Given the description of an element on the screen output the (x, y) to click on. 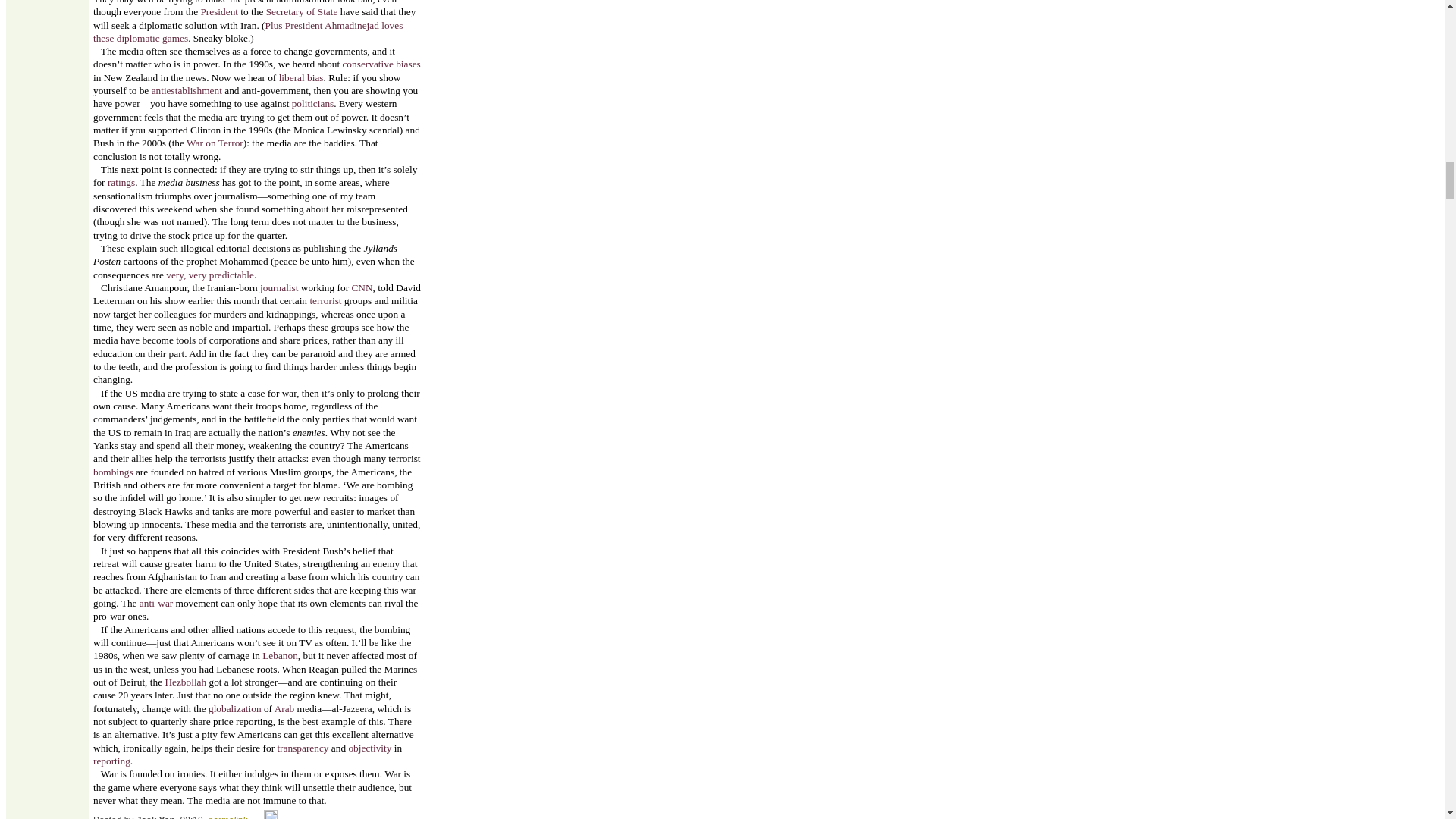
Edit Post (270, 816)
Email Post (256, 816)
